Given the description of an element on the screen output the (x, y) to click on. 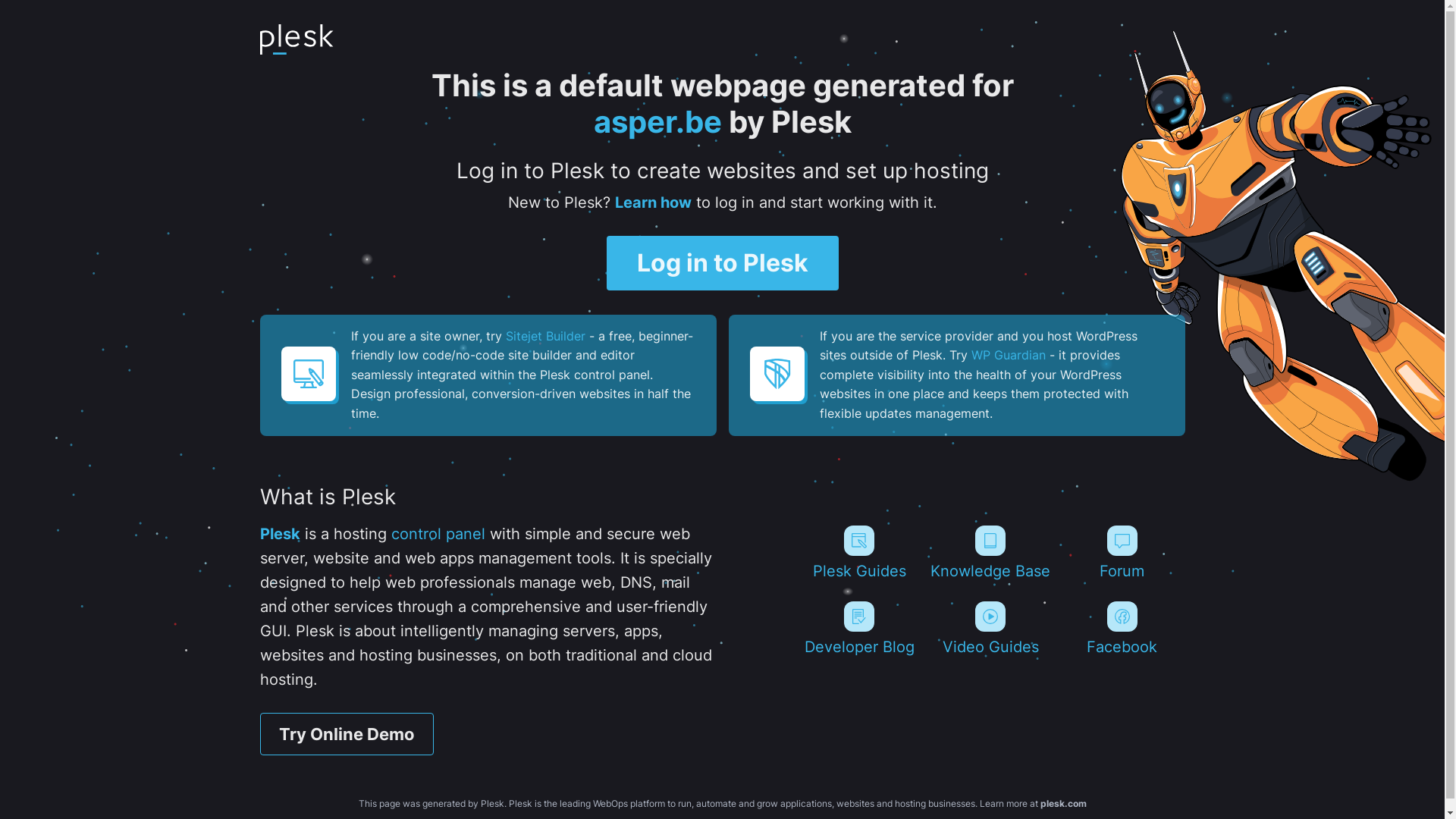
asper.be Element type: text (657, 121)
Video Guides Element type: text (990, 628)
Log in to Plesk Element type: text (722, 262)
control panel Element type: text (438, 533)
WP Guardian Element type: text (1007, 354)
plesk.com Element type: text (1063, 803)
Developer Blog Element type: text (858, 628)
Forum Element type: text (1121, 552)
Knowledge Base Element type: text (990, 552)
Plesk Guides Element type: text (858, 552)
Sitejet Builder Element type: text (544, 335)
Facebook Element type: text (1121, 628)
Try Online Demo Element type: text (346, 733)
Plesk Element type: text (279, 533)
Learn how Element type: text (652, 202)
